Given the description of an element on the screen output the (x, y) to click on. 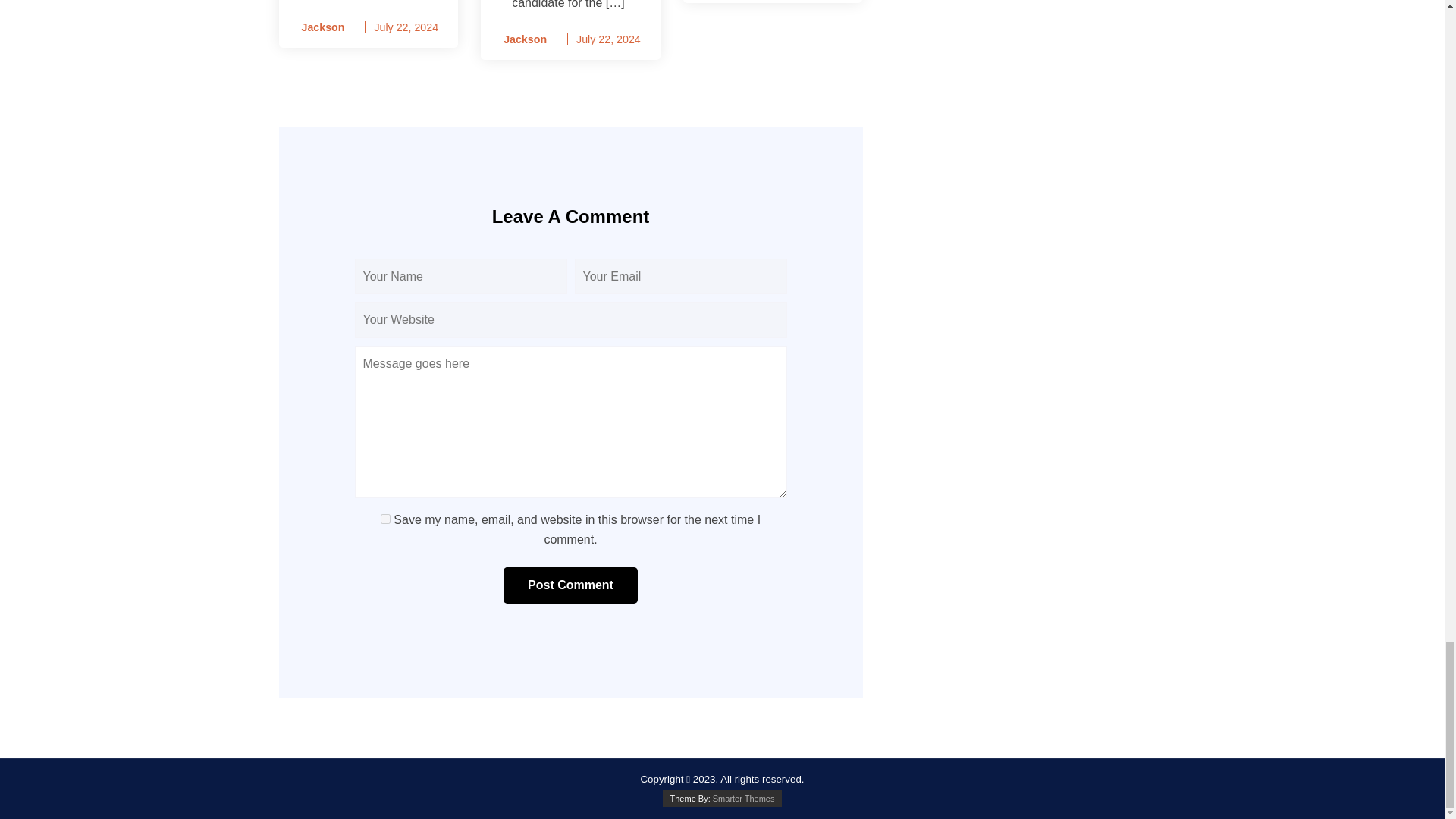
Jackson (318, 27)
Jackson (520, 39)
July 22, 2024 (406, 27)
Post Comment (570, 585)
yes (385, 519)
July 22, 2024 (608, 39)
